Given the description of an element on the screen output the (x, y) to click on. 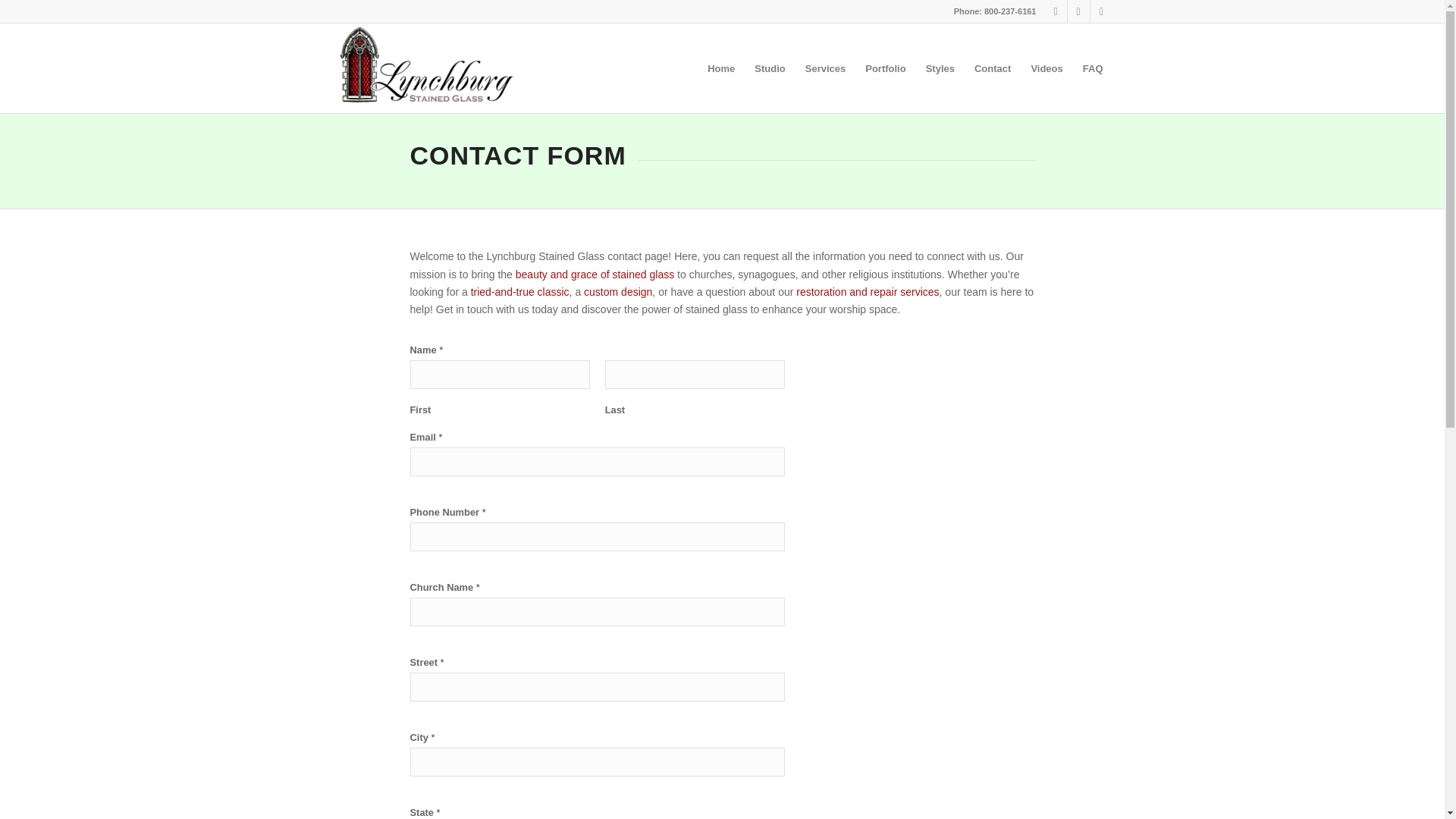
Mail (1101, 11)
Facebook (1078, 11)
Instagram (1056, 11)
